Given the description of an element on the screen output the (x, y) to click on. 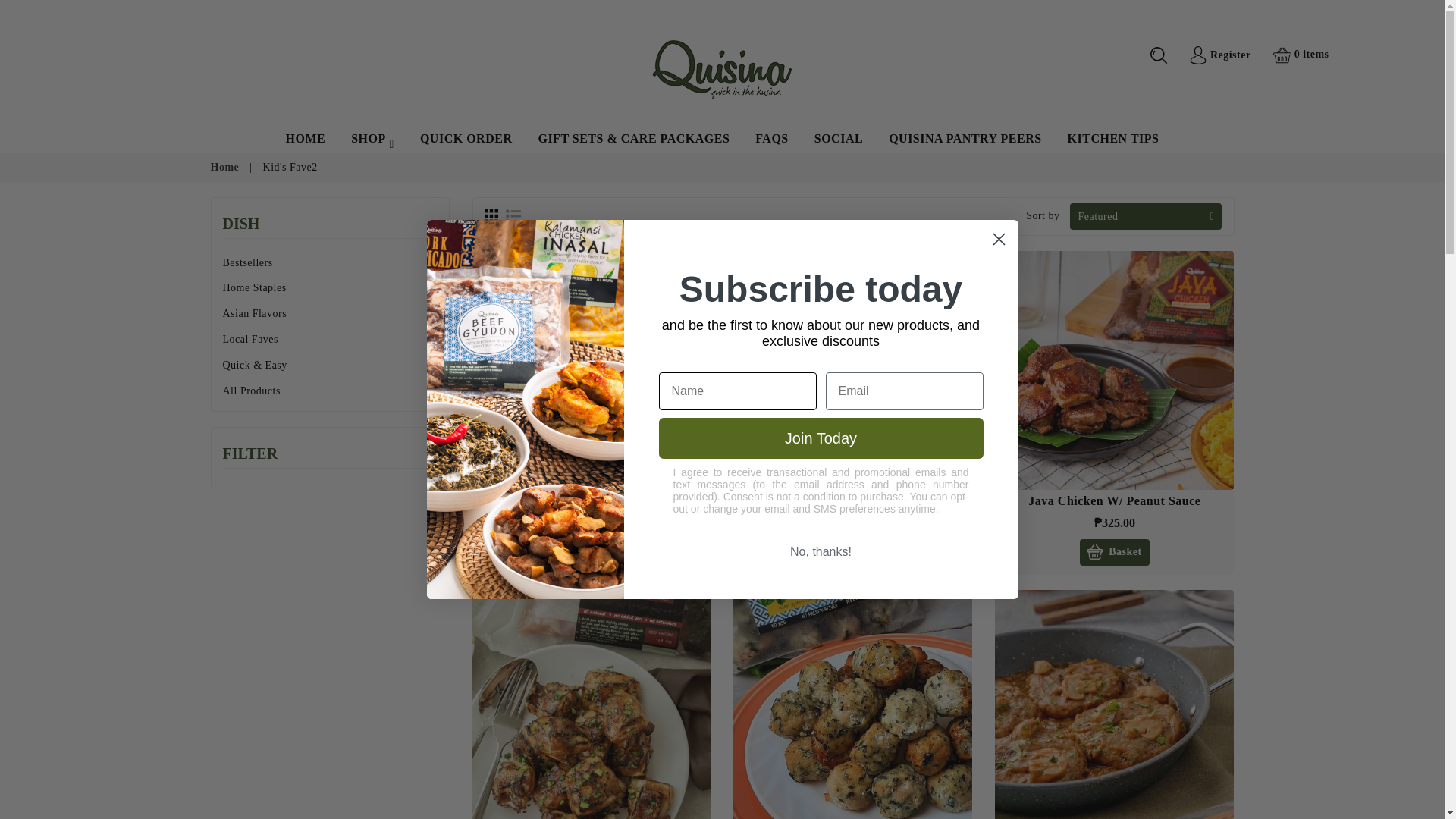
0 items (1300, 54)
Add to cart (852, 551)
Grid view (490, 215)
List view (512, 215)
Add to cart (1114, 551)
Add to cart (591, 551)
Back to the frontpage (225, 166)
Register (1219, 54)
HOME (305, 138)
SHOP (372, 138)
